Given the description of an element on the screen output the (x, y) to click on. 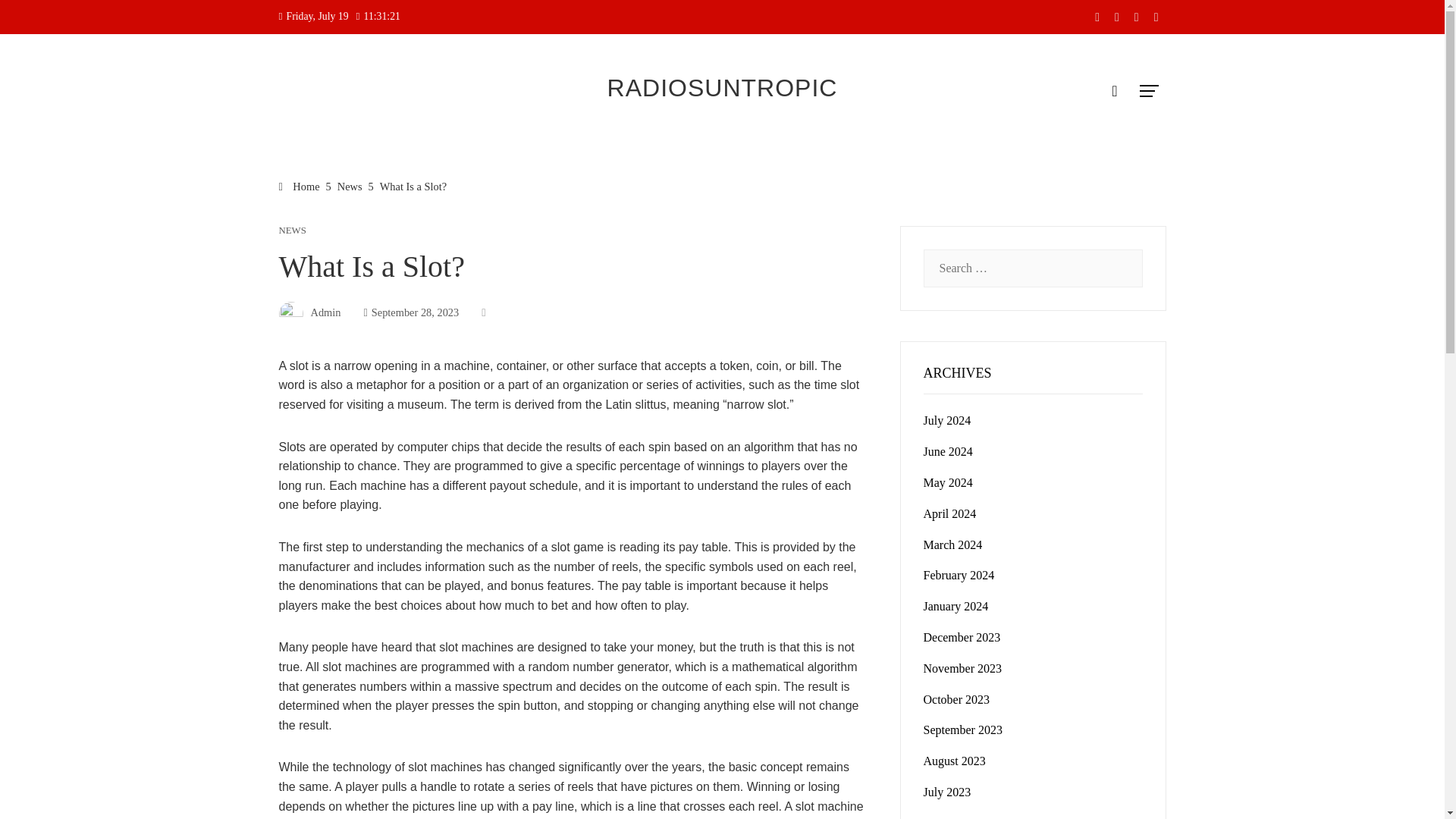
February 2024 (958, 574)
Search (35, 18)
April 2024 (949, 513)
News (349, 186)
RADIOSUNTROPIC (722, 87)
June 2024 (947, 451)
July 2024 (947, 420)
May 2024 (947, 481)
June 2023 (947, 817)
March 2024 (952, 544)
August 2023 (954, 760)
December 2023 (962, 636)
October 2023 (956, 698)
September 2023 (963, 729)
November 2023 (963, 667)
